Given the description of an element on the screen output the (x, y) to click on. 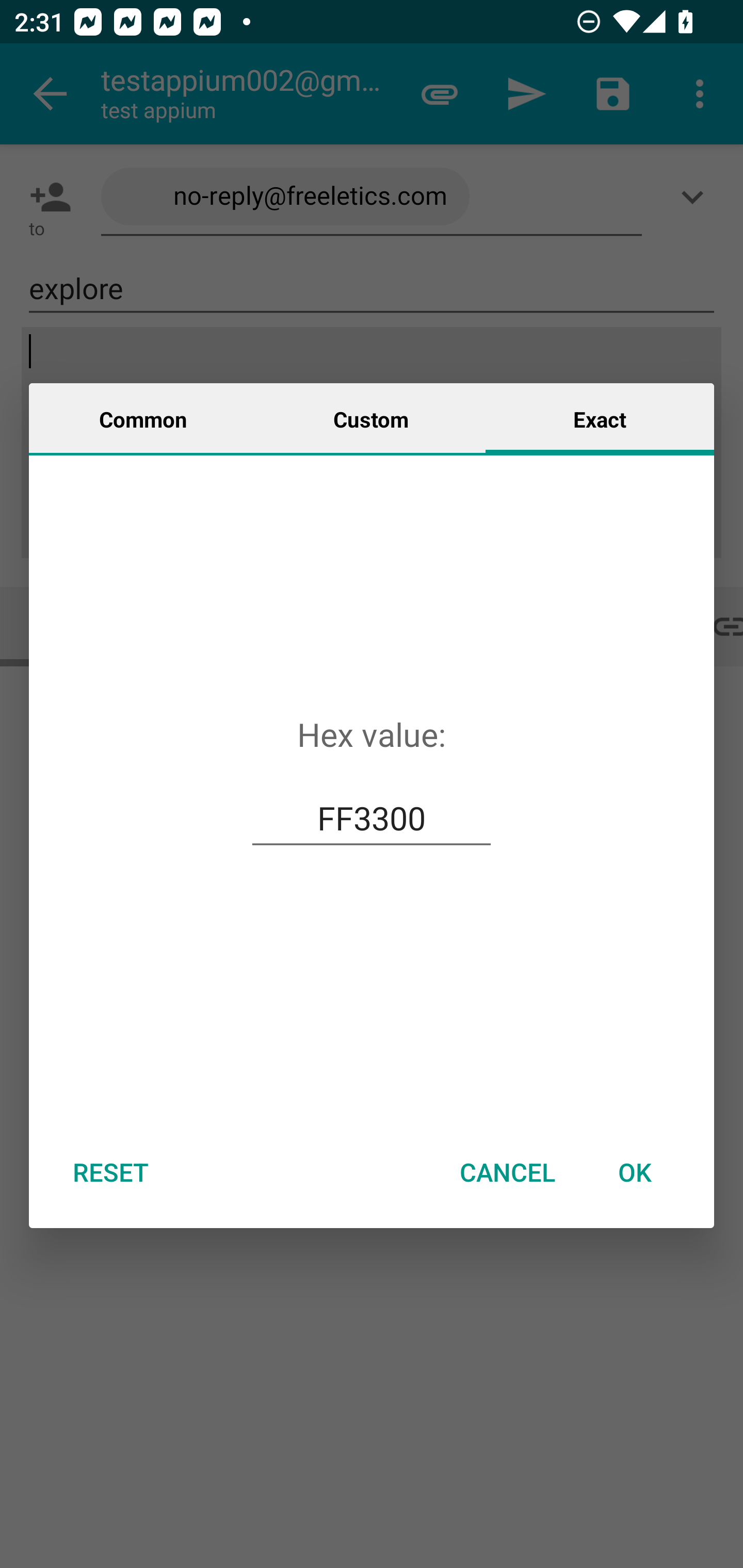
Common (142, 418)
Custom (371, 418)
Exact (599, 418)
FF3300 (371, 818)
RESET (110, 1171)
CANCEL (507, 1171)
OK (634, 1171)
